Given the description of an element on the screen output the (x, y) to click on. 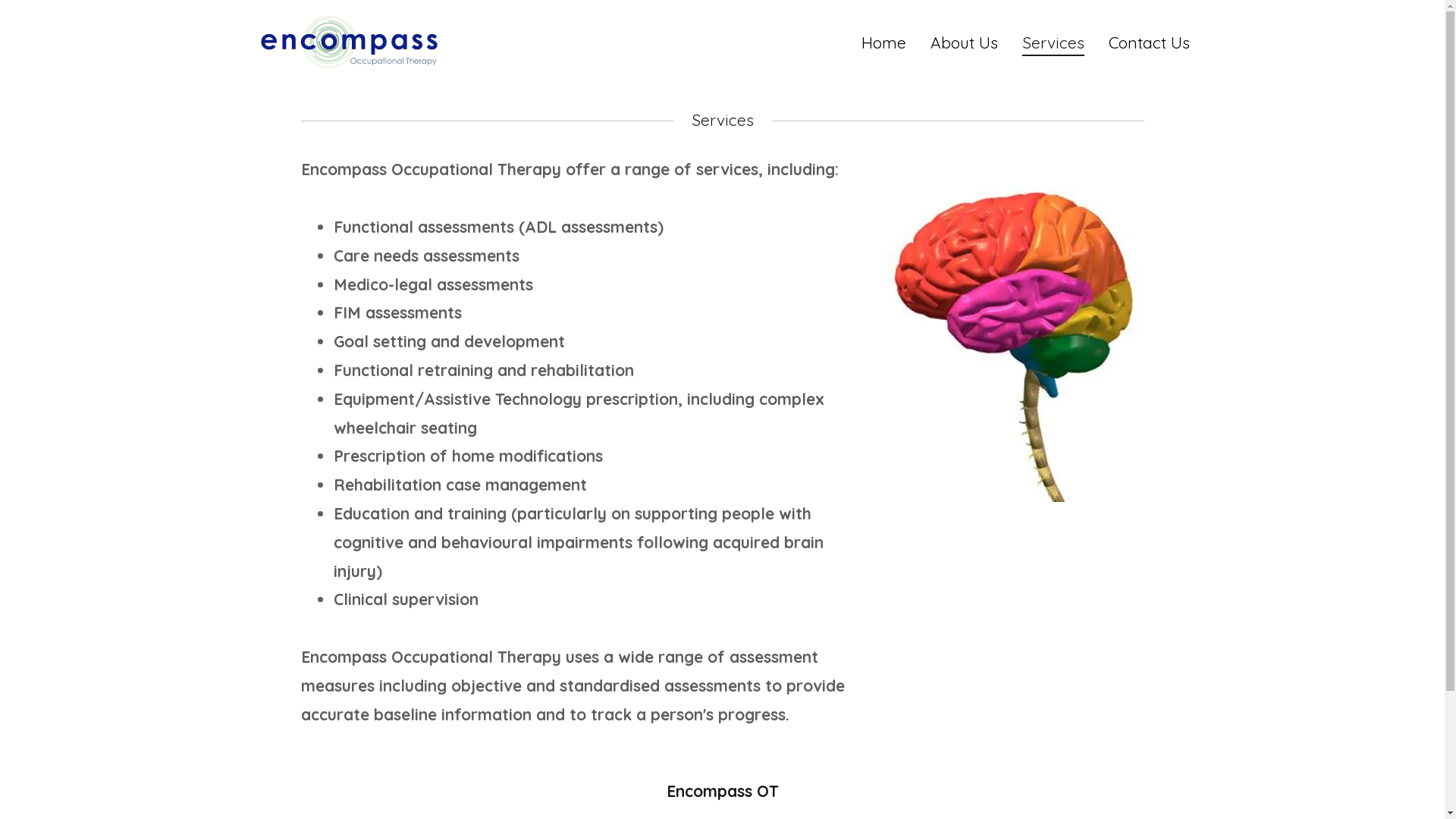
About Us Element type: text (963, 41)
Home Element type: text (883, 41)
Services Element type: text (1053, 44)
Encompass OT Element type: hover (347, 40)
Contact Us Element type: text (1149, 41)
